Given the description of an element on the screen output the (x, y) to click on. 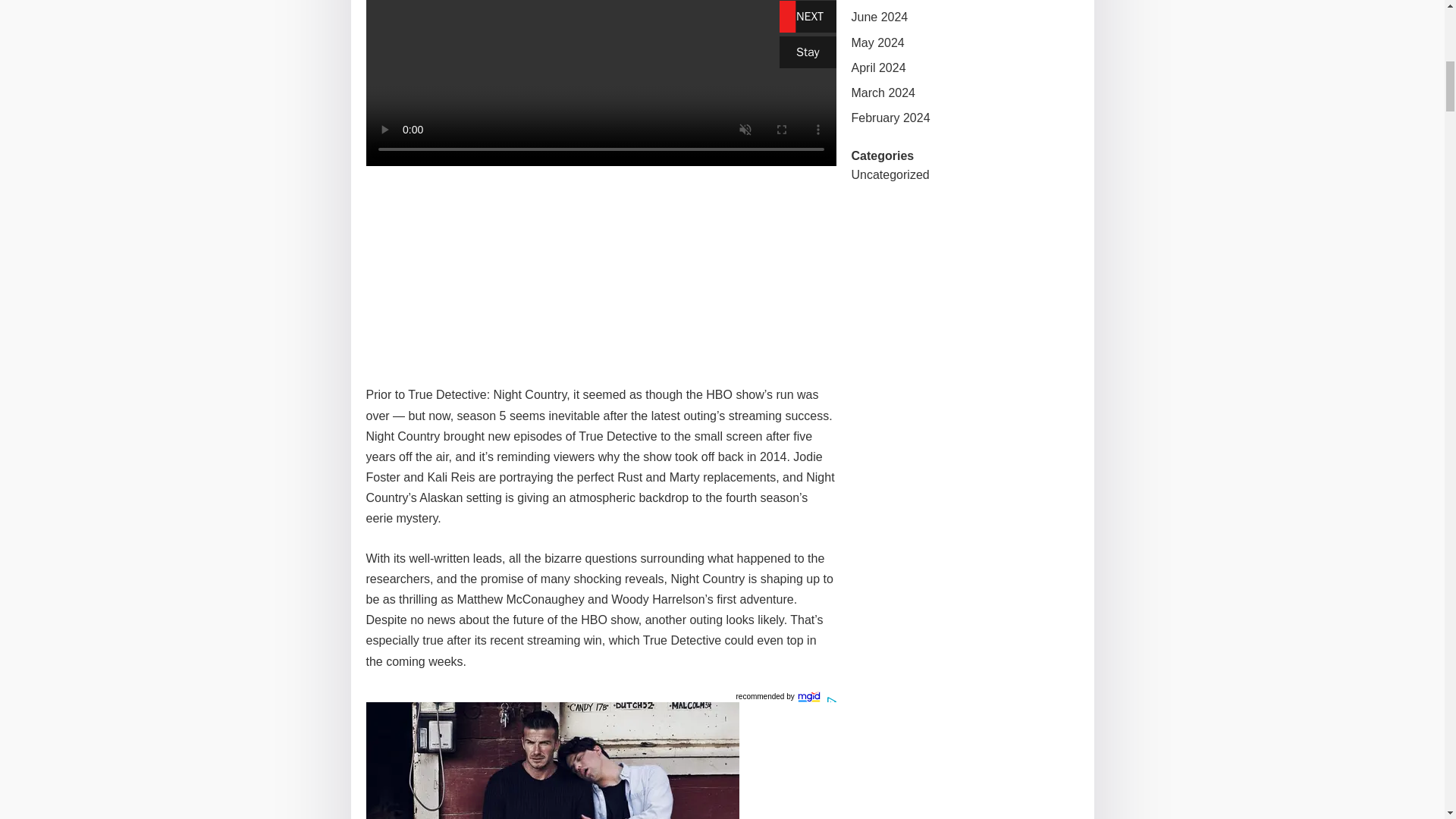
Advertisement (600, 272)
NEXT (806, 16)
